Given the description of an element on the screen output the (x, y) to click on. 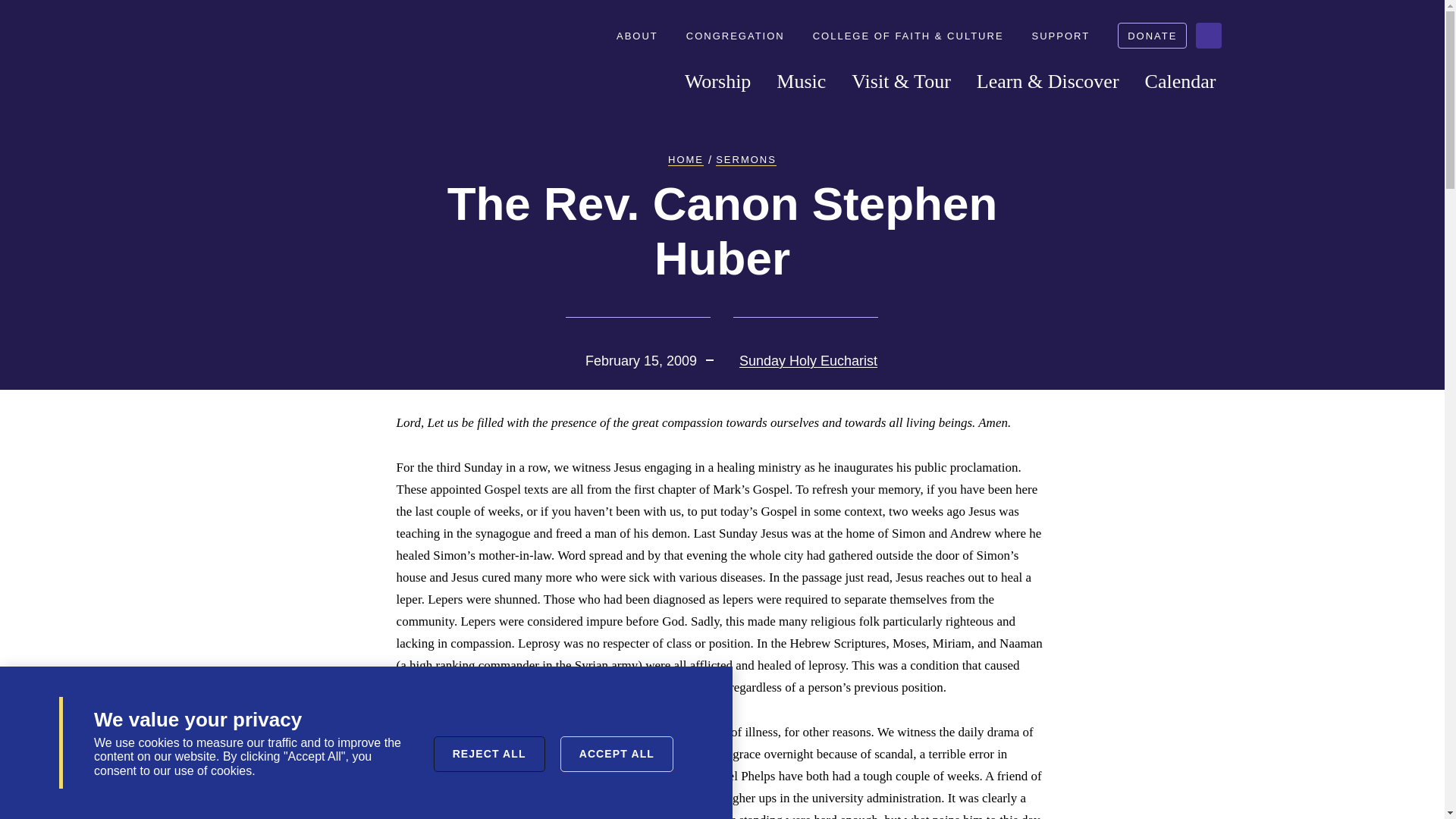
SEARCH (1208, 35)
ABOUT (640, 36)
DONATE (1152, 35)
CONGREGATION (739, 36)
Worship (717, 81)
SUPPORT (1065, 36)
